Given the description of an element on the screen output the (x, y) to click on. 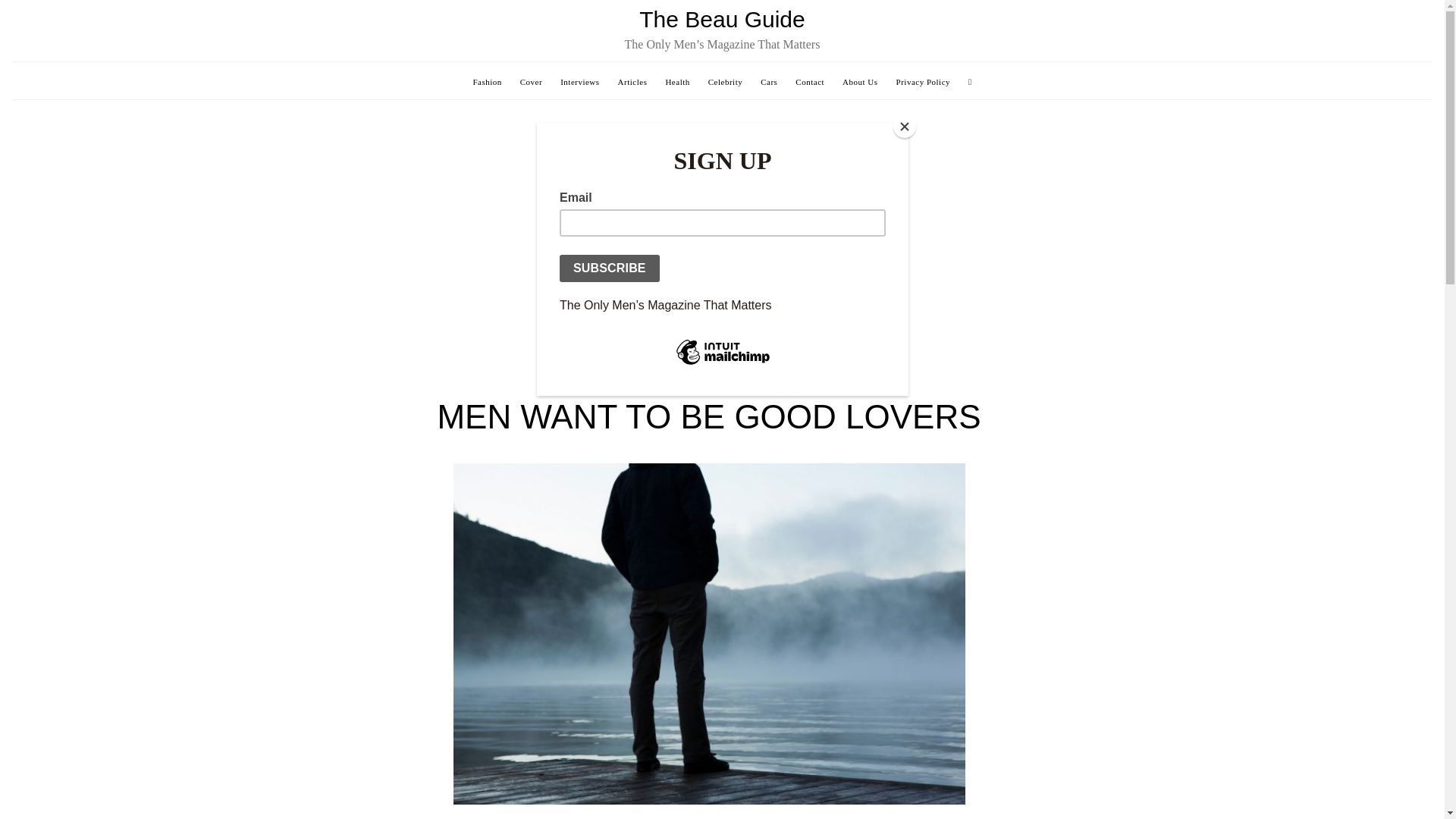
Cars (768, 81)
Articles (632, 81)
Cover (530, 81)
Interviews (579, 81)
Fashion (485, 81)
Celebrity (724, 81)
About Us (860, 81)
Contact (809, 81)
Health (676, 81)
Privacy Policy (923, 81)
The Beau Guide (722, 18)
